Given the description of an element on the screen output the (x, y) to click on. 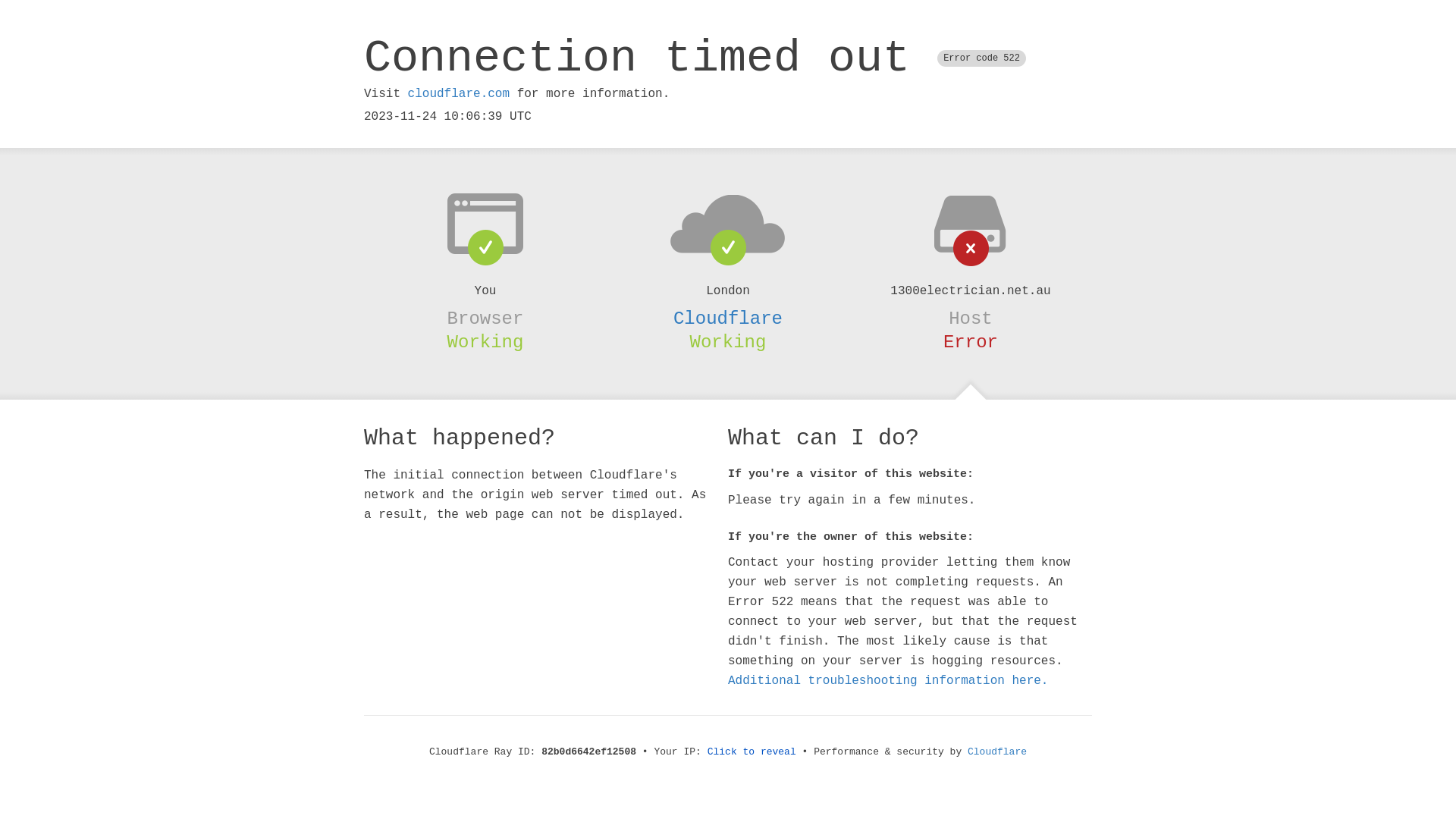
Click to reveal Element type: text (751, 751)
Additional troubleshooting information here. Element type: text (888, 680)
Cloudflare Element type: text (996, 751)
Cloudflare Element type: text (727, 318)
cloudflare.com Element type: text (458, 93)
